Given the description of an element on the screen output the (x, y) to click on. 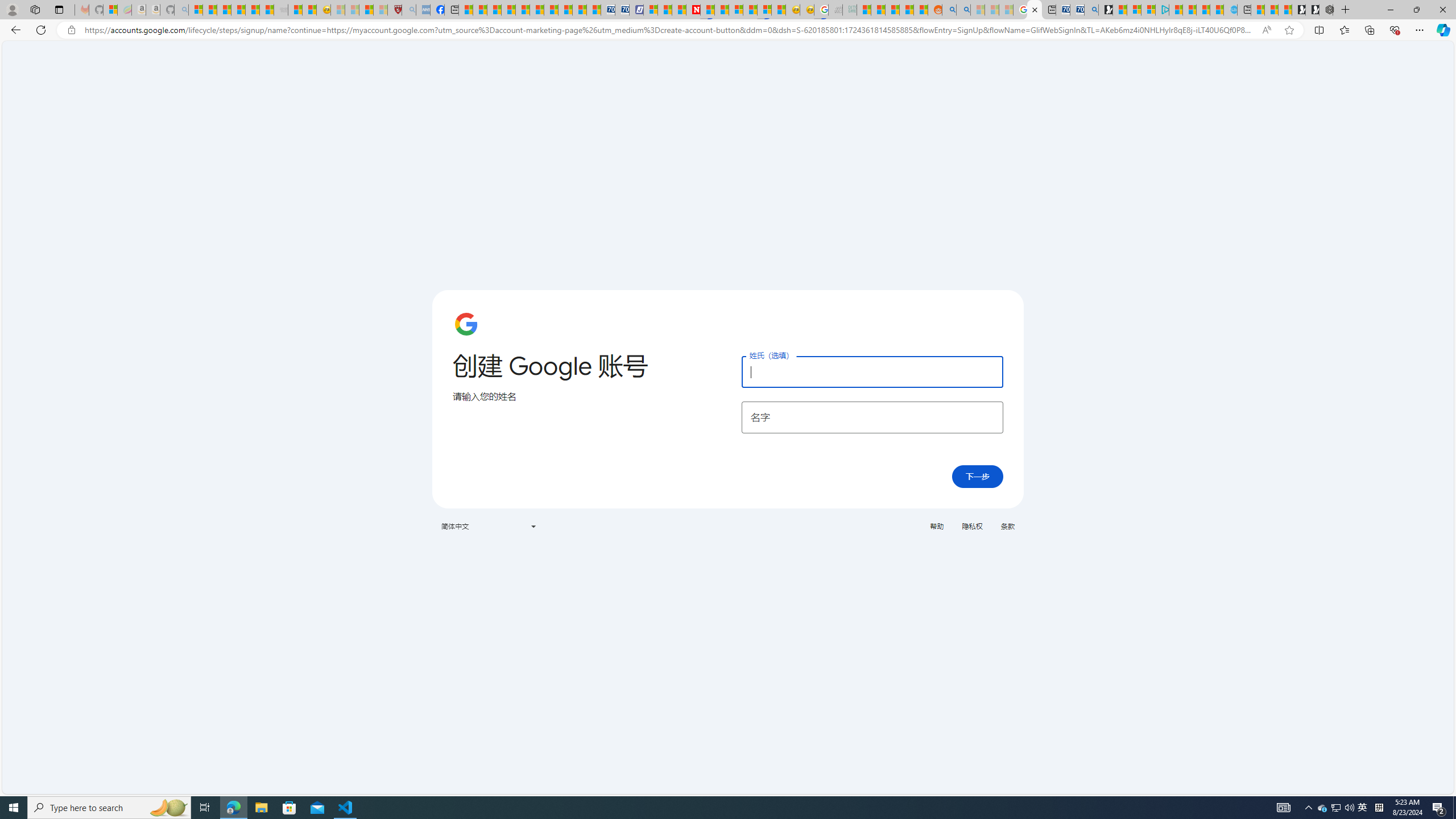
New Report Confirms 2023 Was Record Hot | Watch (252, 9)
12 Popular Science Lies that Must be Corrected - Sleeping (380, 9)
